Given the description of an element on the screen output the (x, y) to click on. 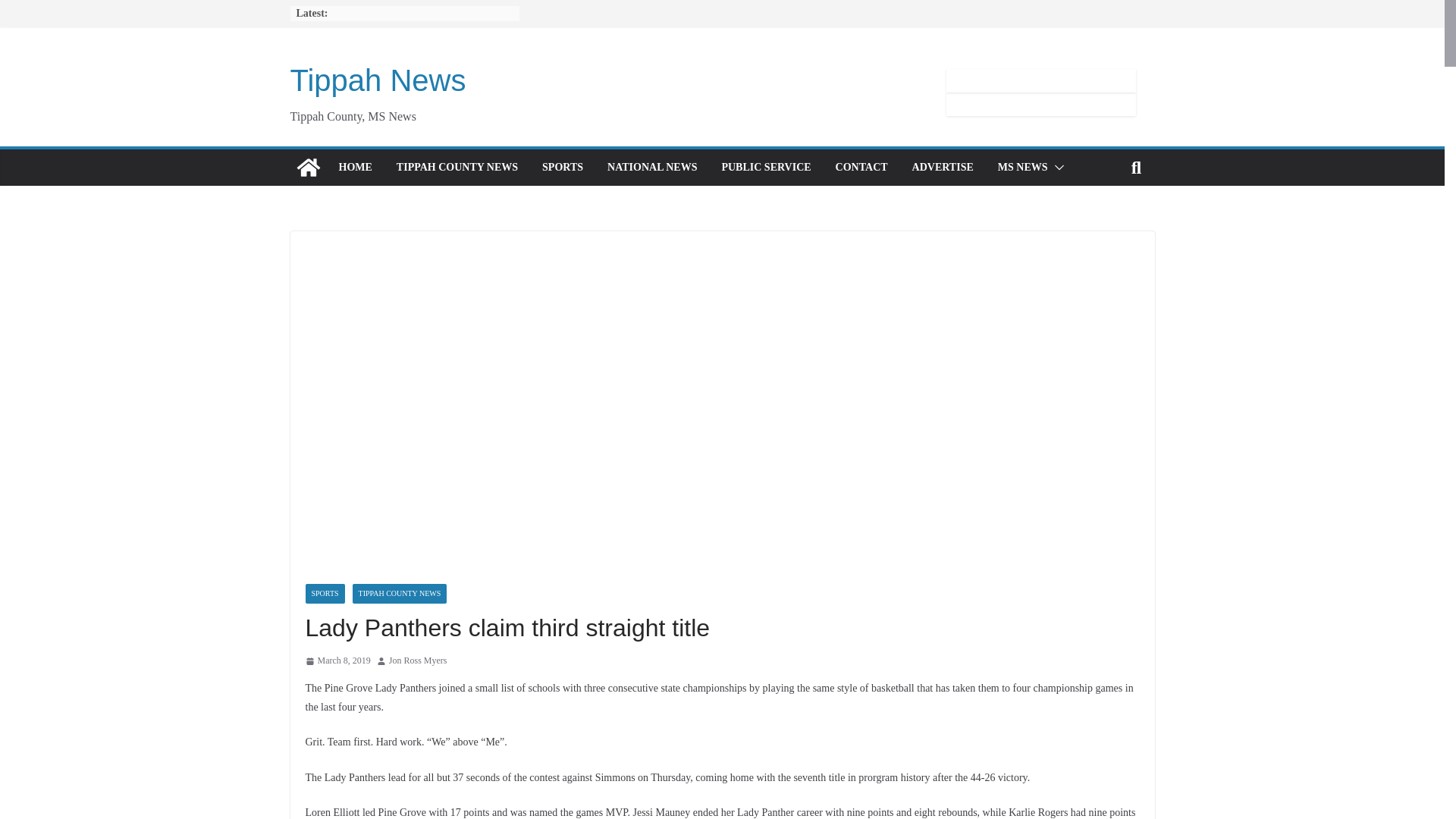
MS NEWS (1022, 167)
PUBLIC SERVICE (765, 167)
NATIONAL NEWS (652, 167)
HOME (354, 167)
12:44 pm (336, 660)
Tippah News (307, 167)
TIPPAH COUNTY NEWS (457, 167)
ADVERTISE (943, 167)
Jon Ross Myers (417, 660)
Tippah News (377, 80)
